Given the description of an element on the screen output the (x, y) to click on. 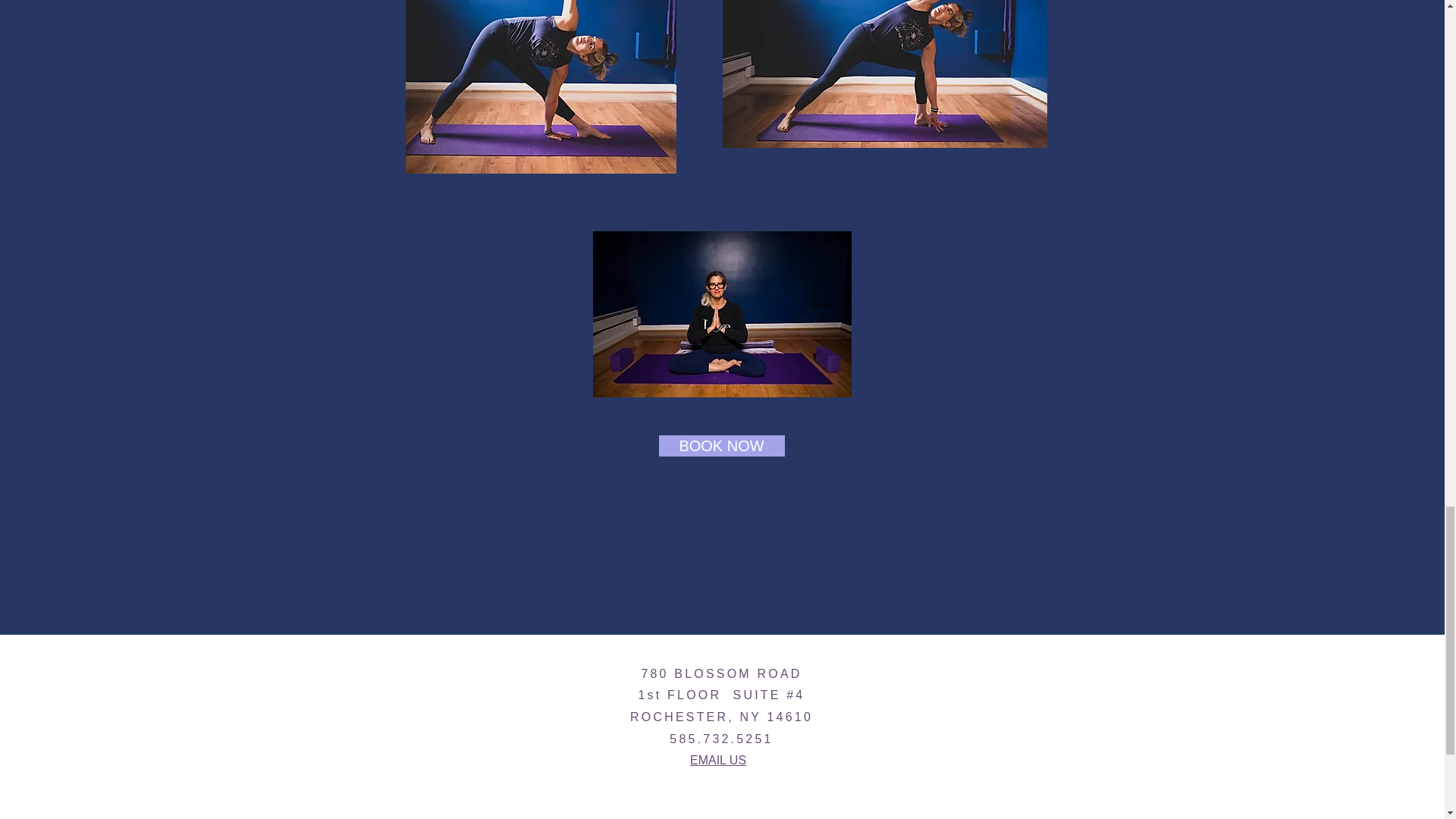
780 BLOSSOM ROAD (721, 673)
ROCHESTER, NY 14610 (721, 716)
BOOK NOW (721, 445)
EMAIL US (717, 759)
